Given the description of an element on the screen output the (x, y) to click on. 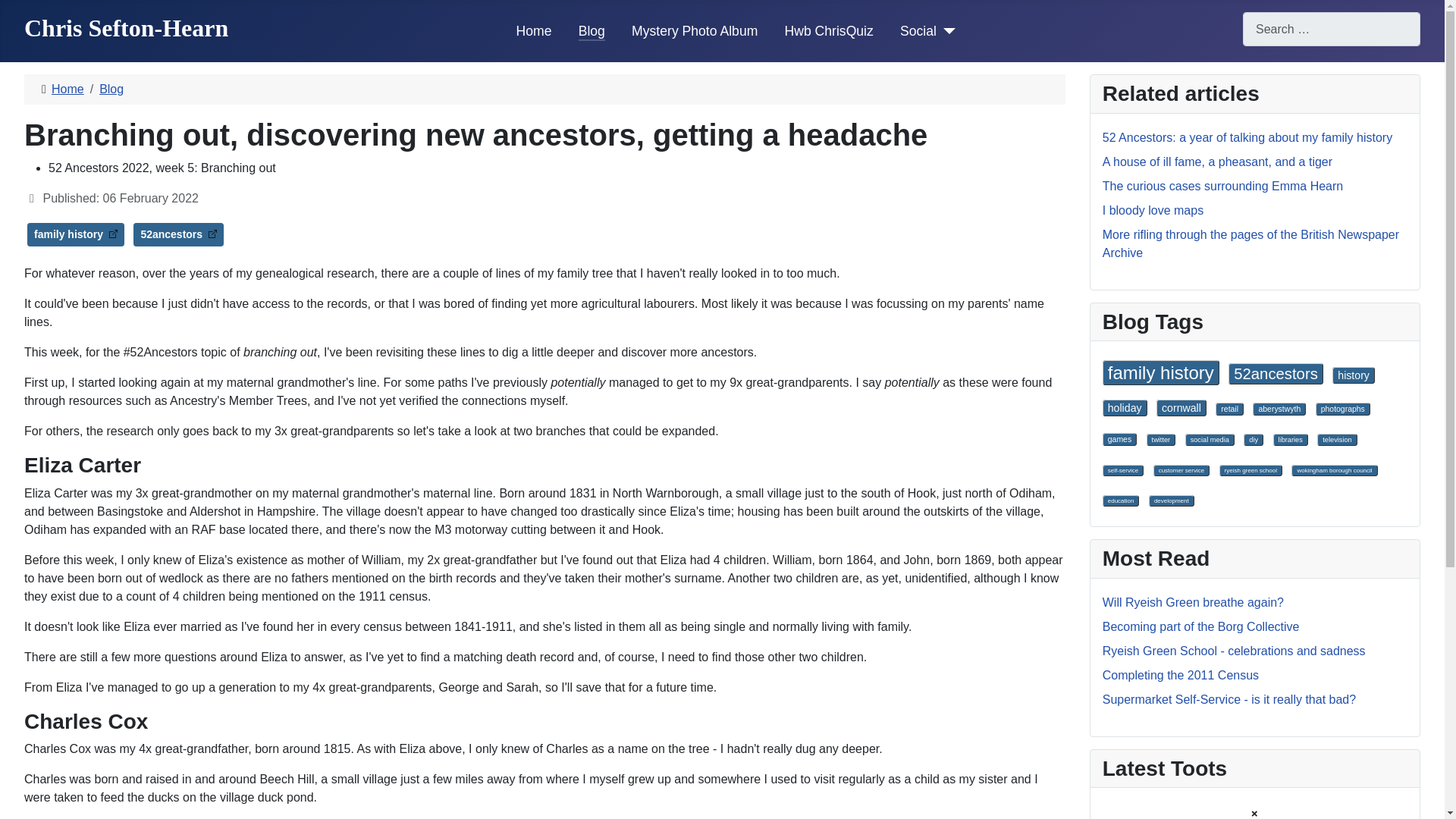
52ancestors (178, 234)
twitter (1161, 439)
I bloody love maps (1153, 210)
52 Ancestors: a year of talking about my family history (1246, 137)
diy (1253, 439)
aberystwyth (1279, 408)
Home (67, 88)
family history (1161, 372)
social media (1209, 439)
Home (533, 30)
A house of ill fame, a pheasant, and a tiger (1217, 161)
libraries (1289, 439)
history (1353, 375)
cornwall (1181, 407)
games (1119, 439)
